Given the description of an element on the screen output the (x, y) to click on. 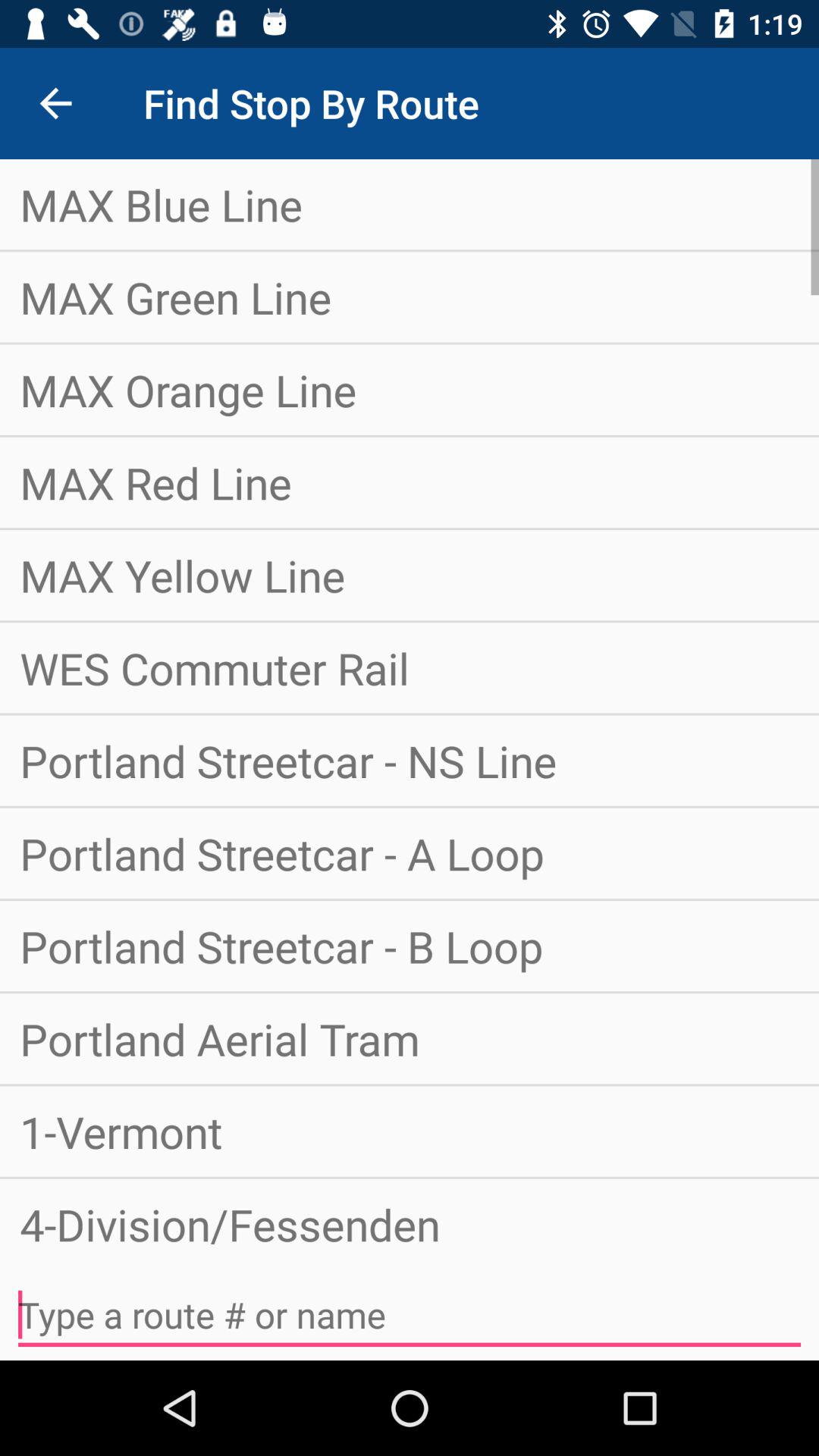
tap 1-vermont icon (409, 1131)
